Given the description of an element on the screen output the (x, y) to click on. 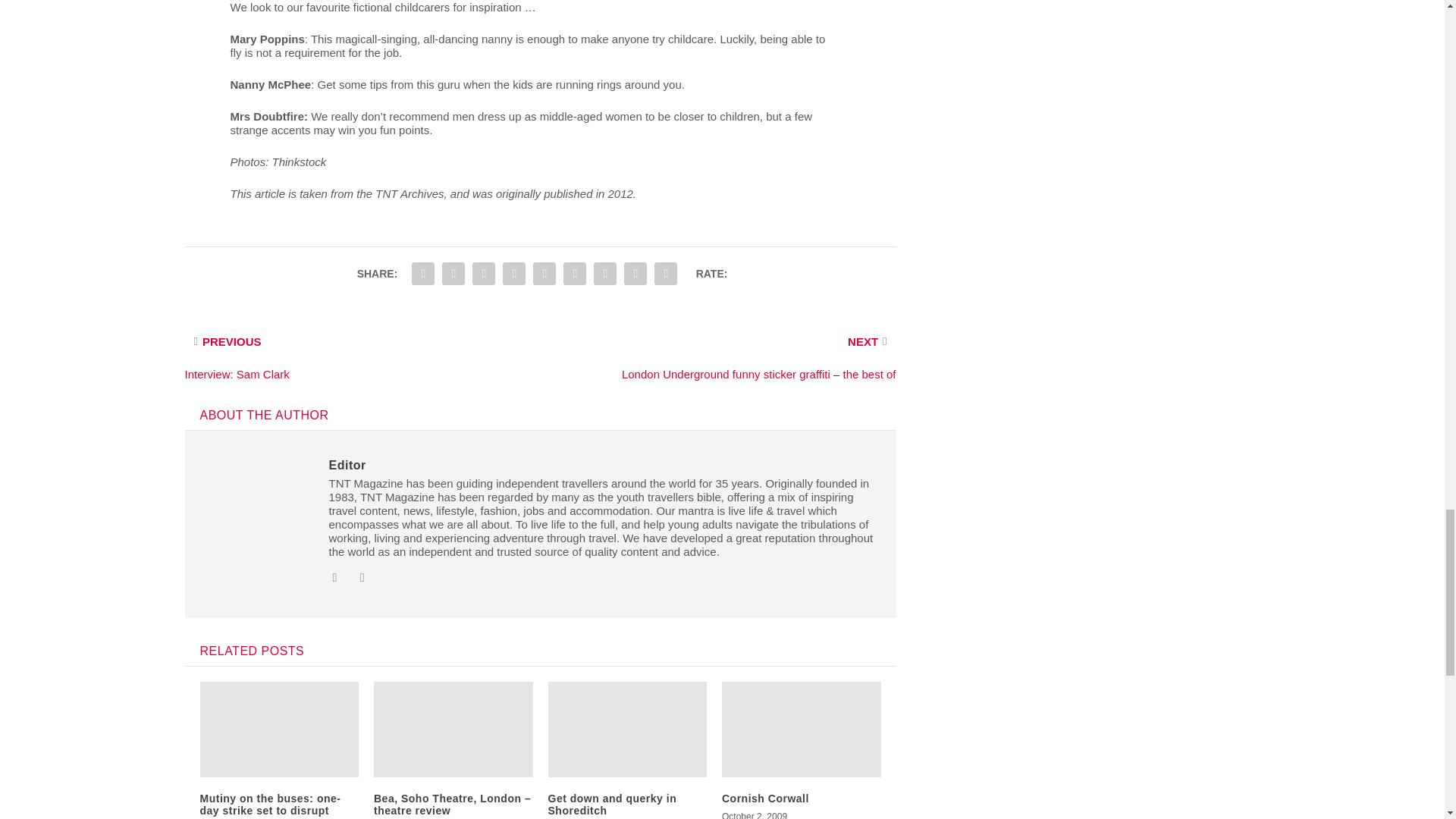
Share "Careers: The real nanny diaries" via Buffer (574, 273)
Share "Careers: The real nanny diaries" via Facebook (422, 273)
Editor (347, 464)
Get down and querky in Shoreditch (612, 804)
Share "Careers: The real nanny diaries" via LinkedIn (544, 273)
Share "Careers: The real nanny diaries" via Tumblr (483, 273)
Share "Careers: The real nanny diaries" via Twitter (453, 273)
Share "Careers: The real nanny diaries" via Pinterest (514, 273)
